Given the description of an element on the screen output the (x, y) to click on. 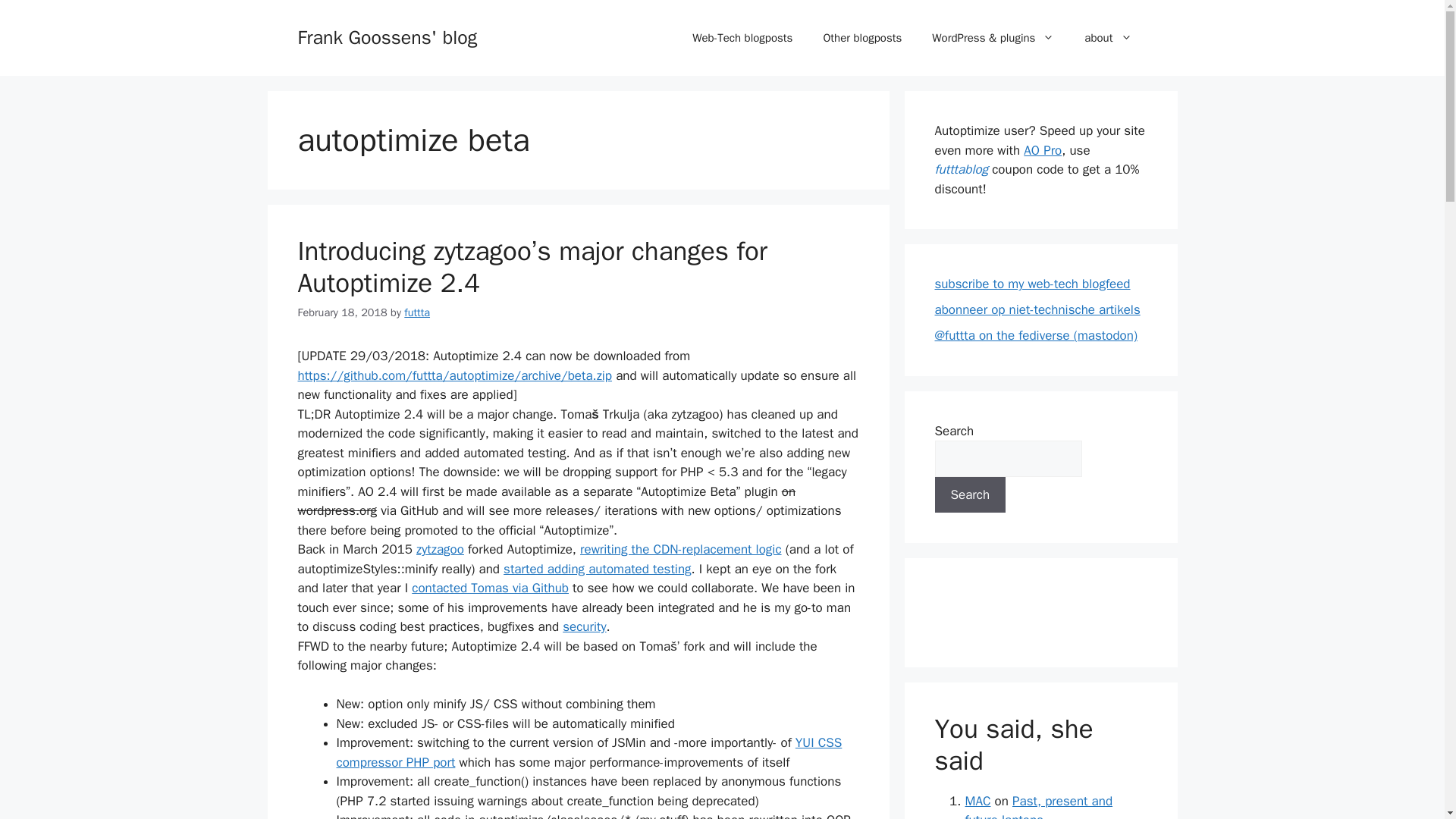
Other blogposts (862, 37)
rewriting the CDN-replacement logic (679, 549)
about:futtta (1107, 37)
security (583, 626)
Web-Tech blogposts (742, 37)
YUI CSS compressor PHP port (589, 752)
futtta (416, 312)
Non-tech blogposts, in Dutch (862, 37)
View all posts by futtta (416, 312)
about (1107, 37)
Frank Goossens' blog (387, 37)
contacted Tomas via Github (490, 587)
started adding automated testing (596, 569)
zytzagoo (440, 549)
